Given the description of an element on the screen output the (x, y) to click on. 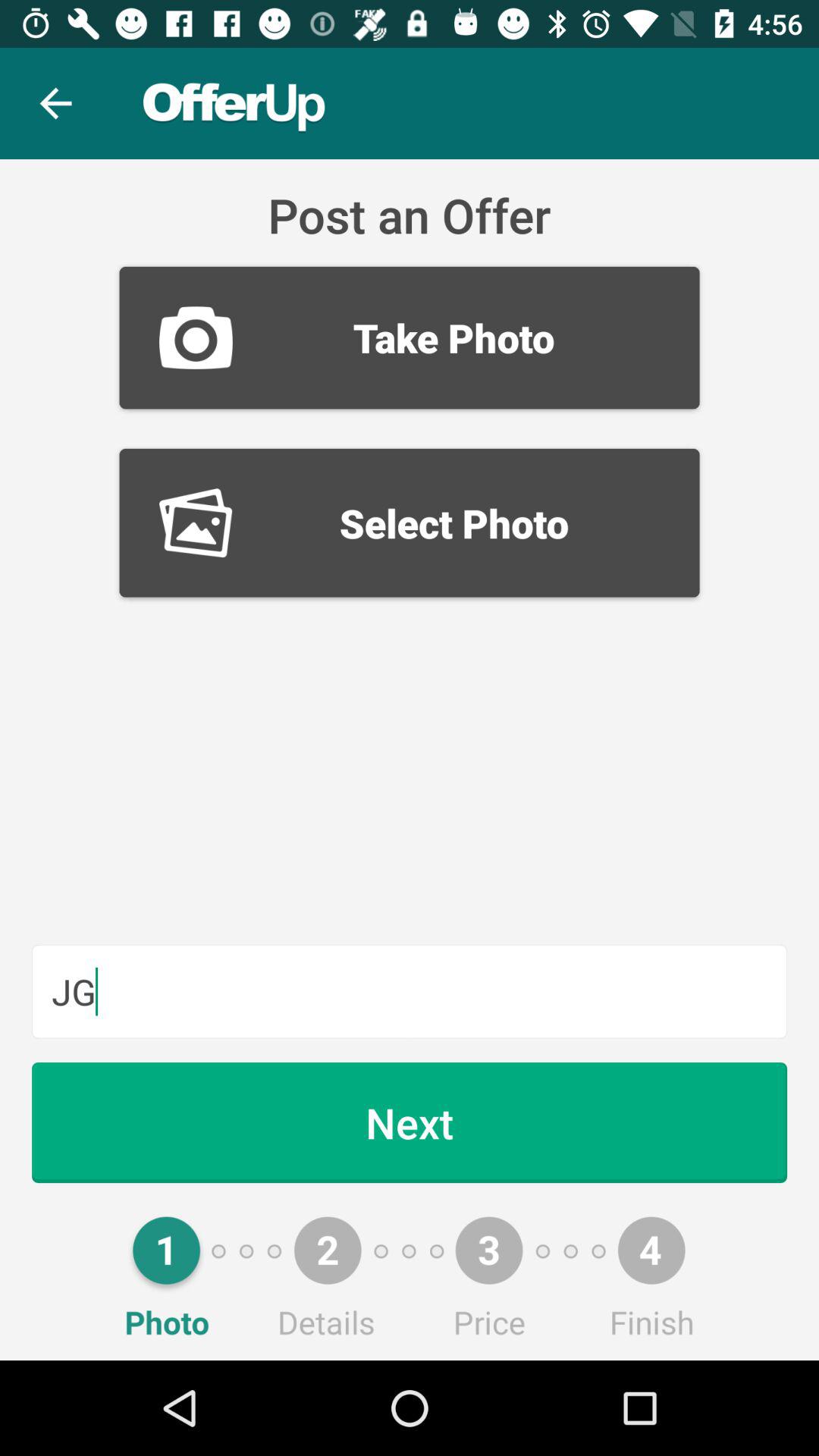
tap the item below the post an offer icon (409, 337)
